Given the description of an element on the screen output the (x, y) to click on. 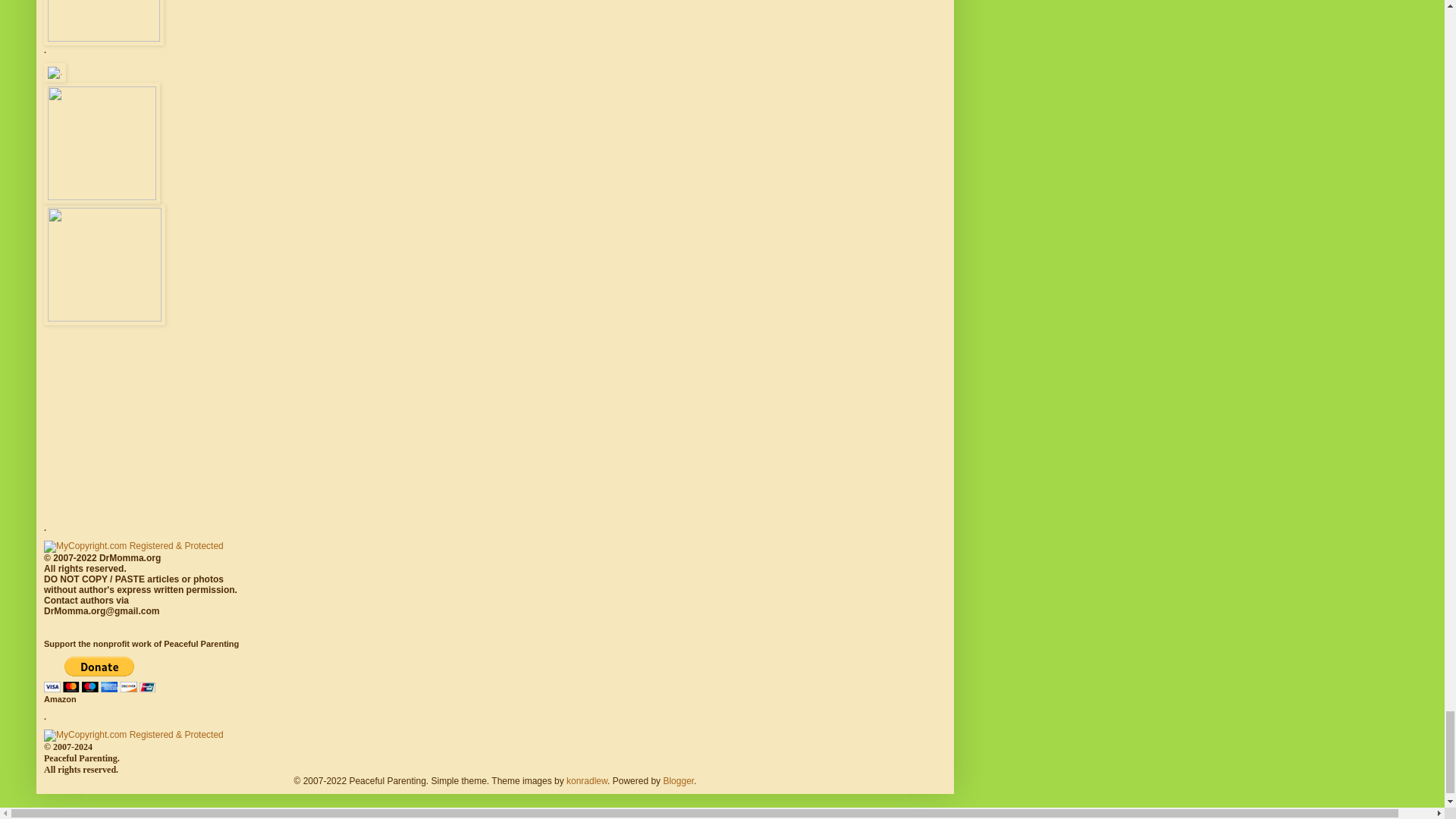
PayPal - The safer, easier way to pay online! (99, 674)
